Given the description of an element on the screen output the (x, y) to click on. 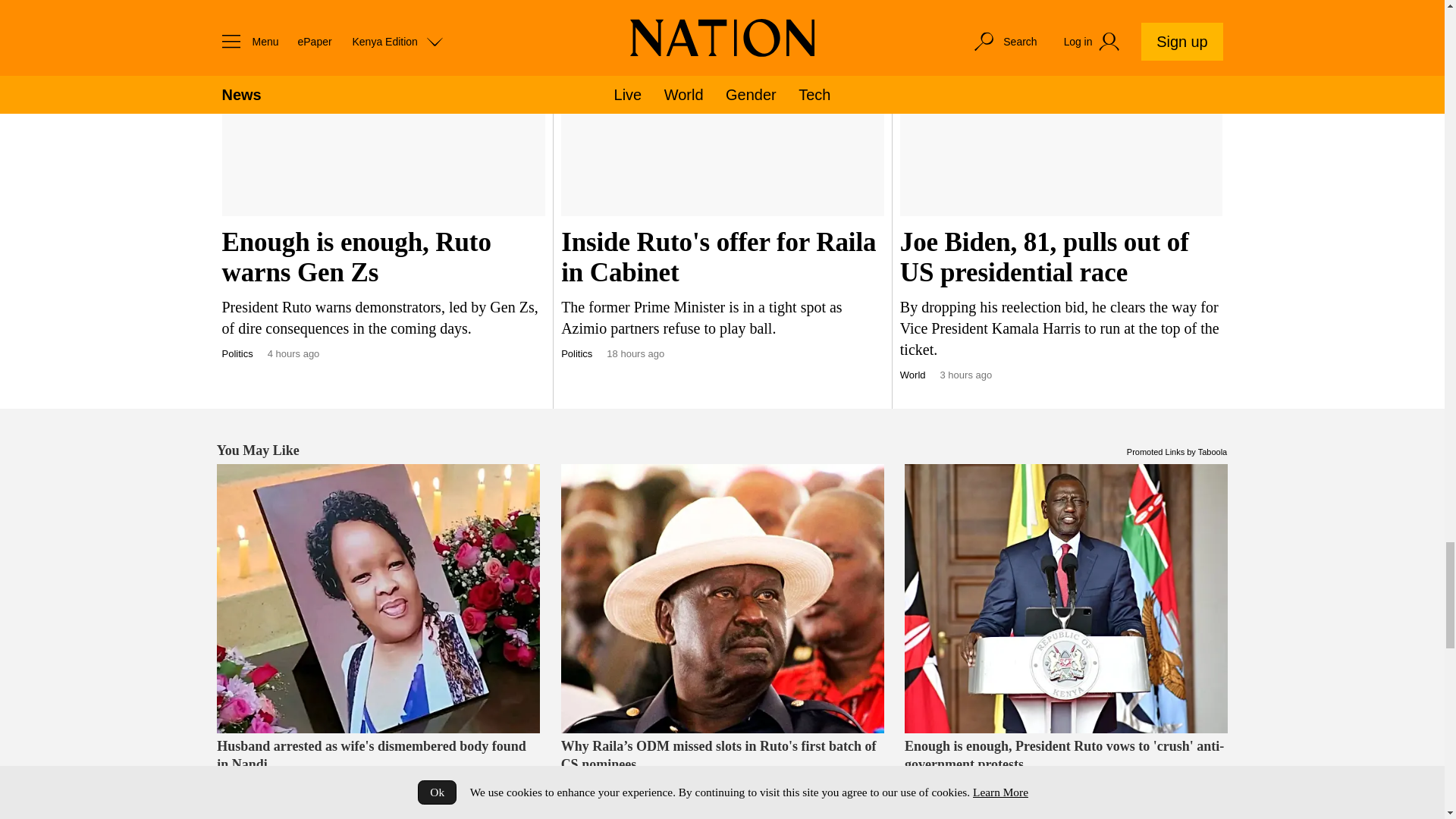
Husband arrested as wife's dismembered body found in Nandi (378, 773)
Husband arrested as wife's dismembered body found in Nandi (378, 598)
